Given the description of an element on the screen output the (x, y) to click on. 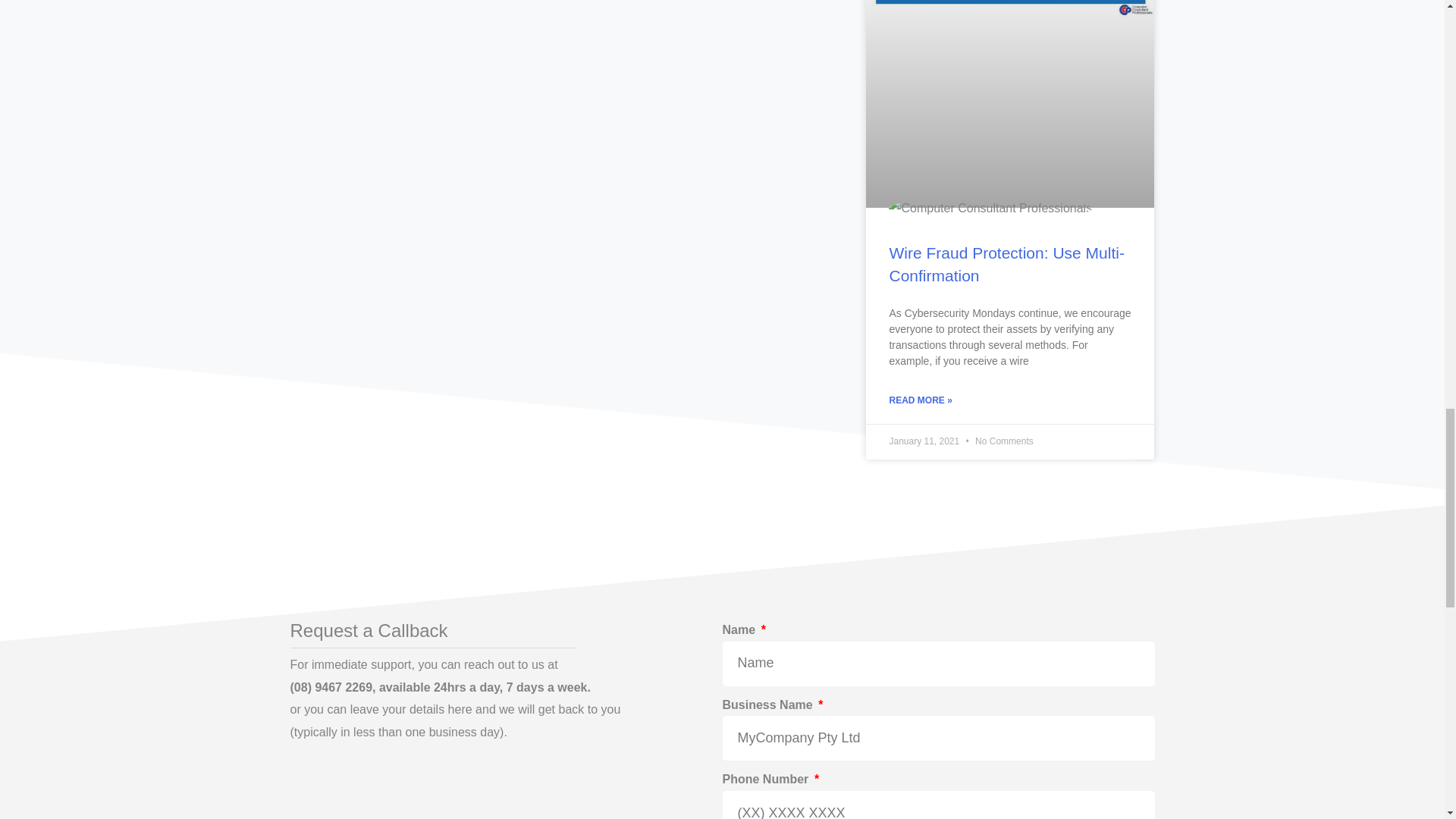
Wire Fraud Protection: Use Multi-Confirmation (1006, 263)
